Given the description of an element on the screen output the (x, y) to click on. 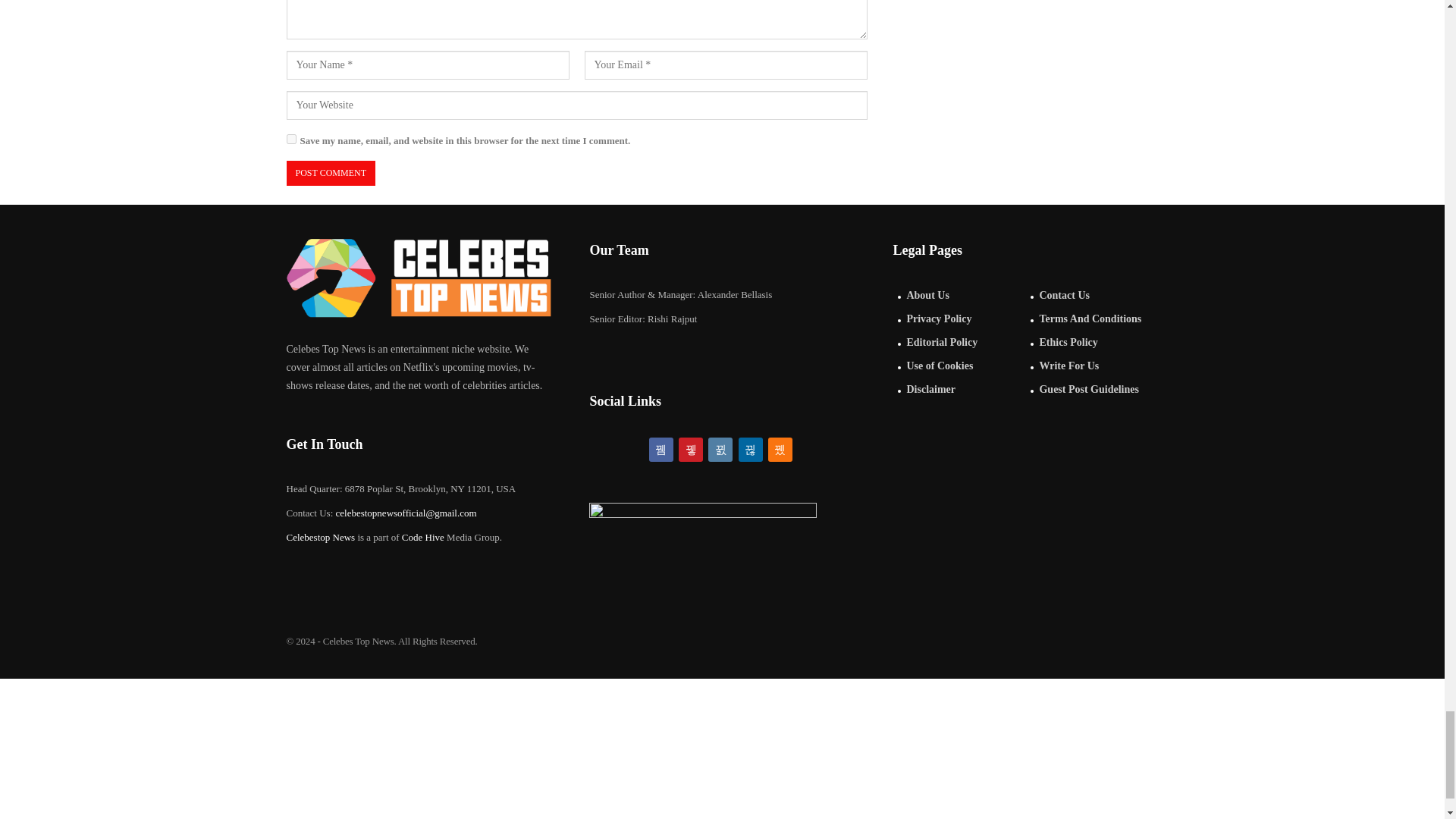
yes (291, 139)
Post Comment (330, 172)
